Given the description of an element on the screen output the (x, y) to click on. 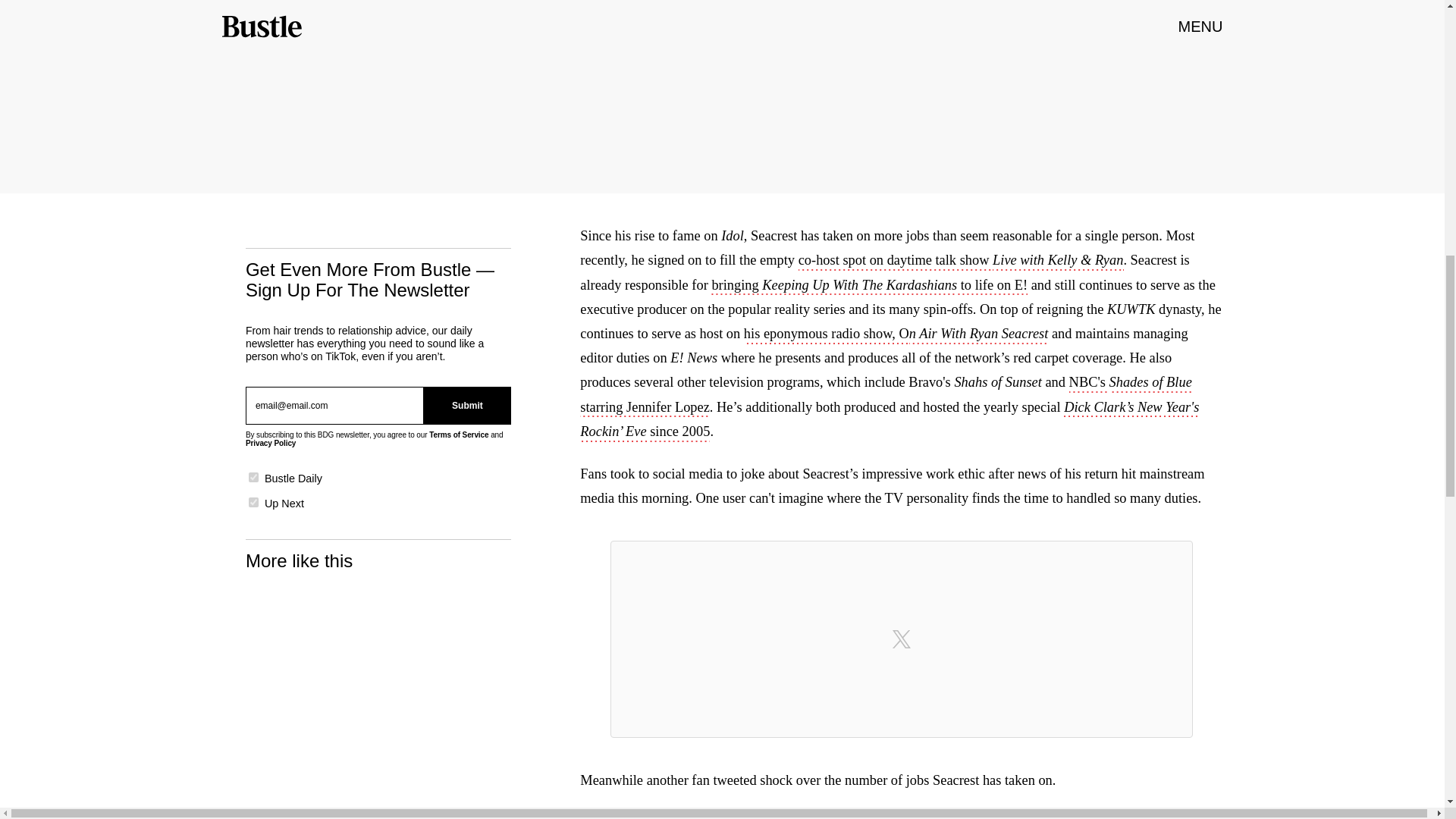
co-host spot on daytime talk show (894, 261)
Terms of Service (458, 434)
to life on E! (991, 286)
Privacy Policy (270, 442)
Keeping Up With The Kardashians (858, 286)
starring Jennifer Lopez (885, 420)
NBC's (1088, 383)
his eponymous radio show, O (826, 334)
bringing (736, 286)
Submit (467, 405)
since 2005 (679, 433)
n Air With Ryan Seacrest (978, 334)
Shades of Blue (1149, 383)
